Given the description of an element on the screen output the (x, y) to click on. 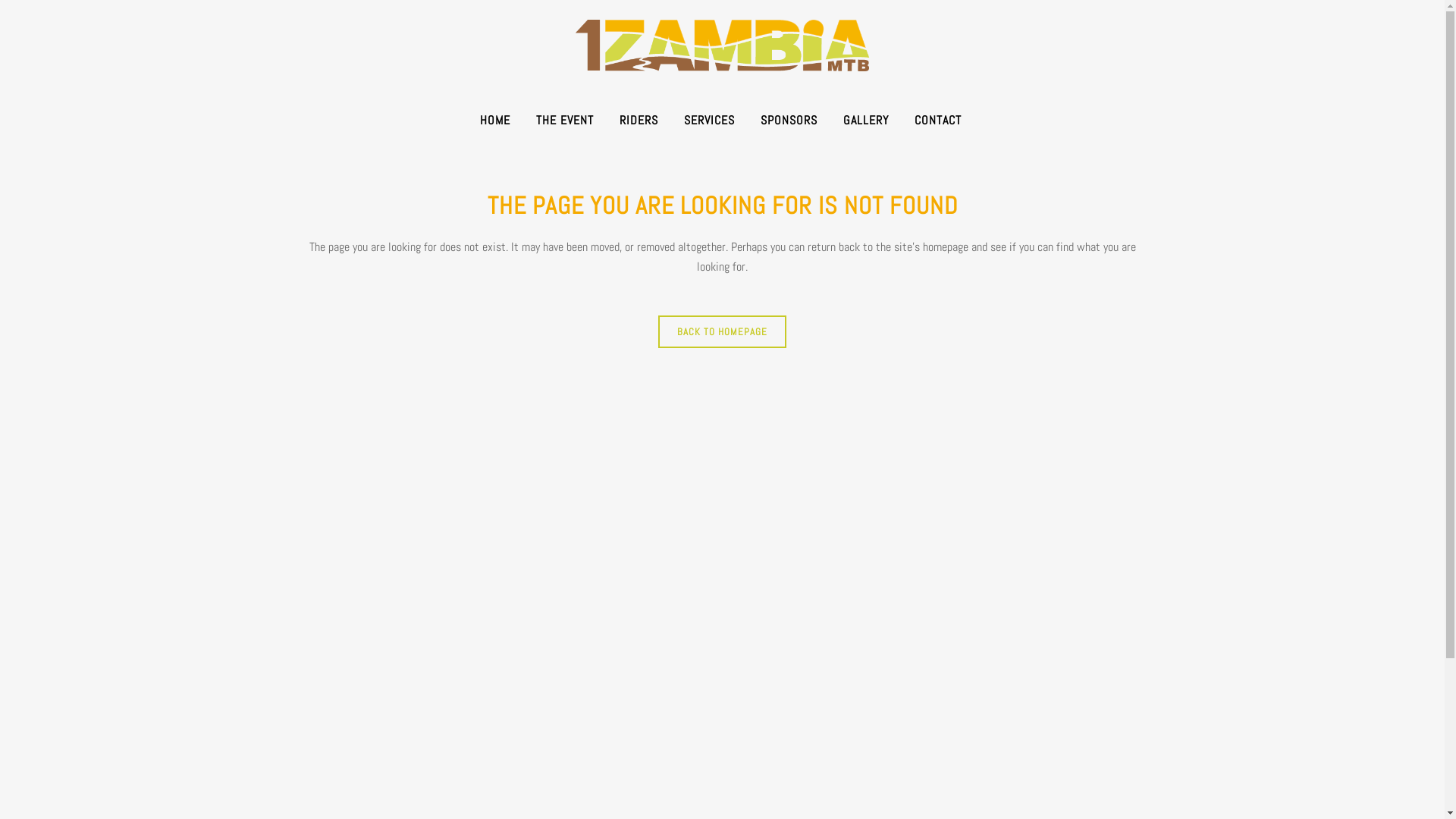
BACK TO HOMEPAGE Element type: text (722, 331)
GALLERY Element type: text (865, 120)
HOME Element type: text (495, 120)
RIDERS Element type: text (638, 120)
SPONSORS Element type: text (788, 120)
CONTACT Element type: text (937, 120)
SERVICES Element type: text (709, 120)
THE EVENT Element type: text (564, 120)
